Given the description of an element on the screen output the (x, y) to click on. 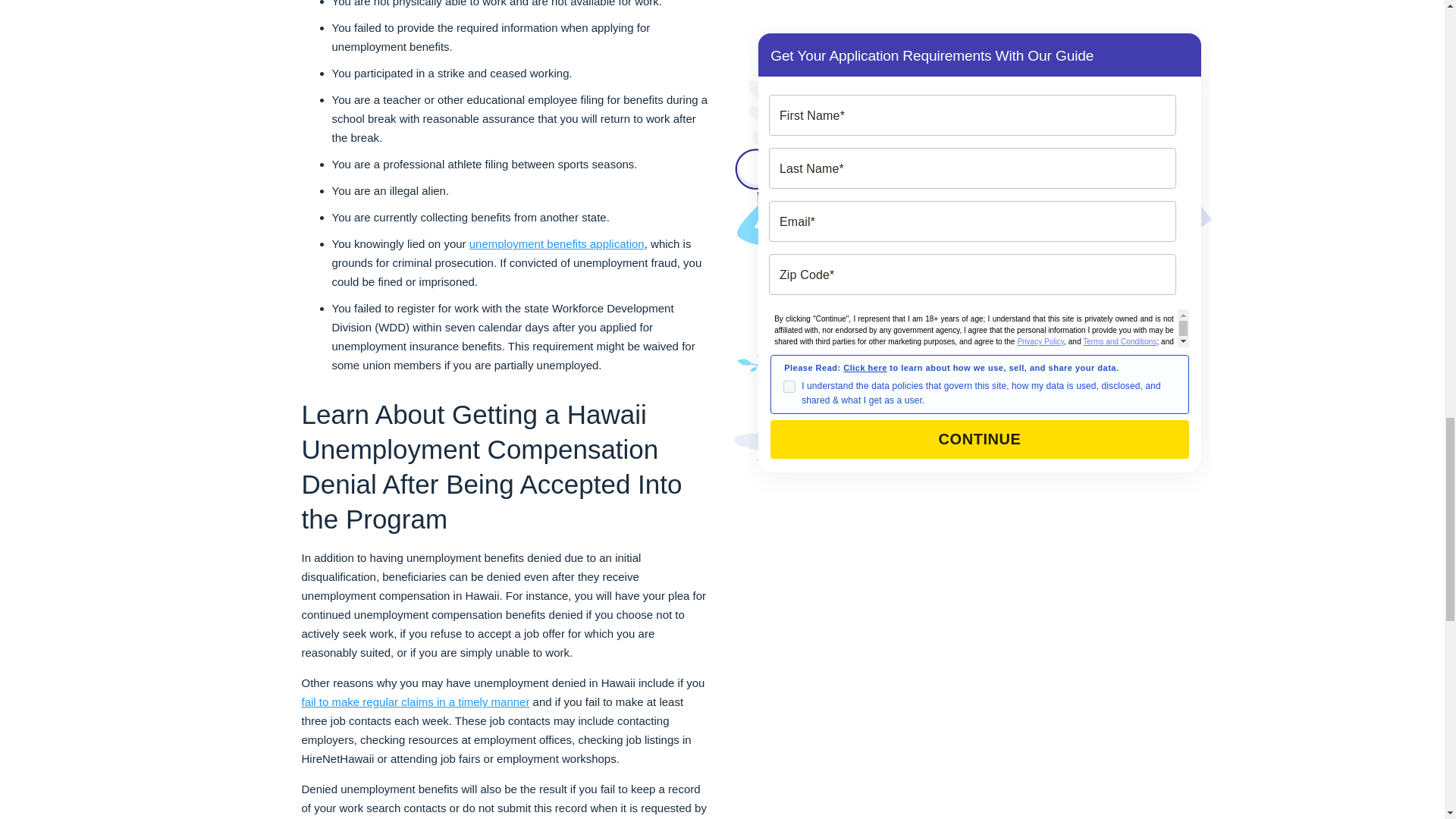
unemployment benefits application (556, 243)
fail to make regular claims in a timely manner (415, 701)
